Given the description of an element on the screen output the (x, y) to click on. 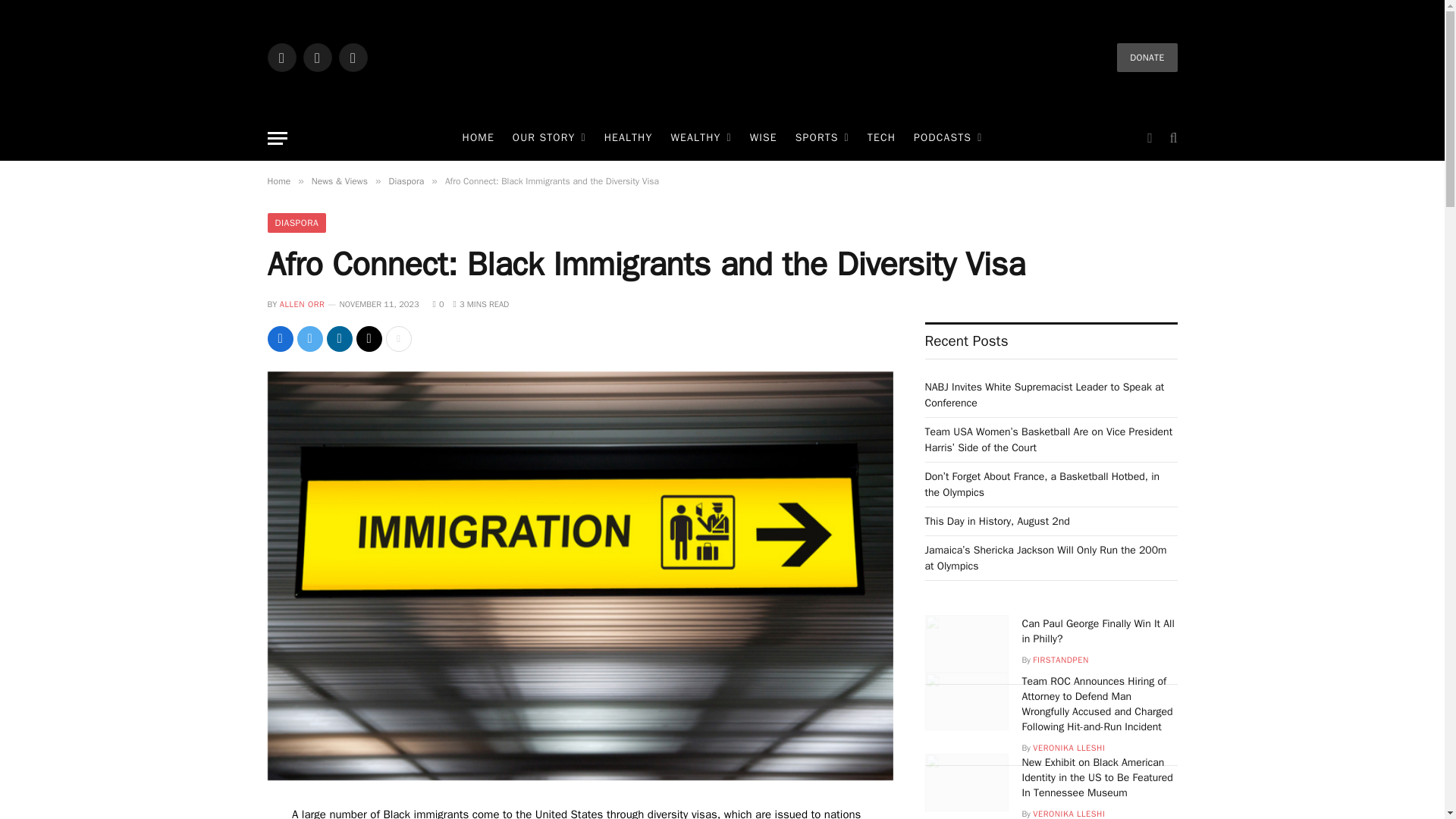
DONATE (1146, 57)
HOME (477, 137)
HEALTHY (628, 137)
YouTube (351, 57)
OUR STORY (549, 137)
Instagram (316, 57)
WEALTHY (700, 137)
